Given the description of an element on the screen output the (x, y) to click on. 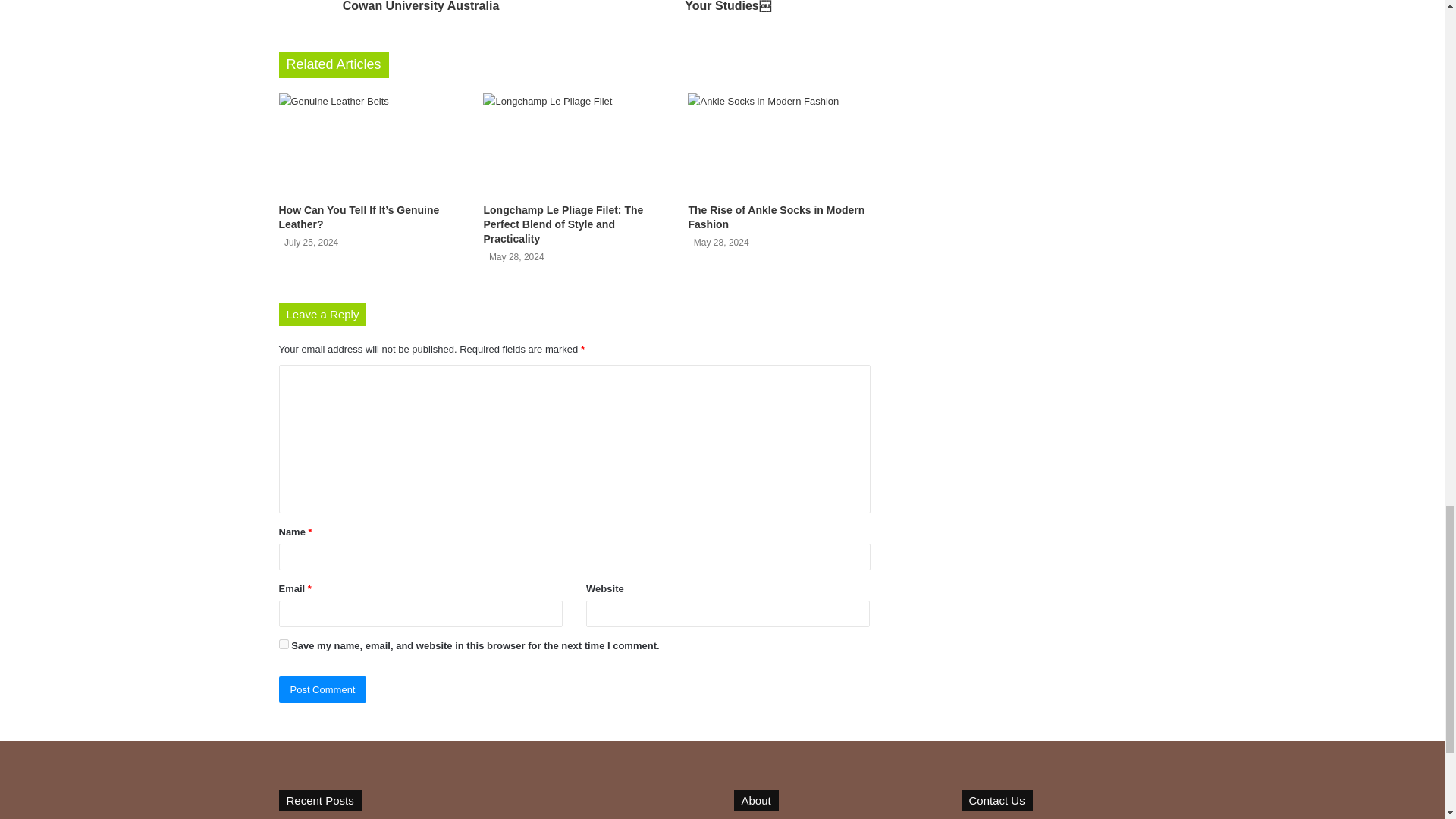
yes (283, 644)
Post Comment (322, 689)
